Given the description of an element on the screen output the (x, y) to click on. 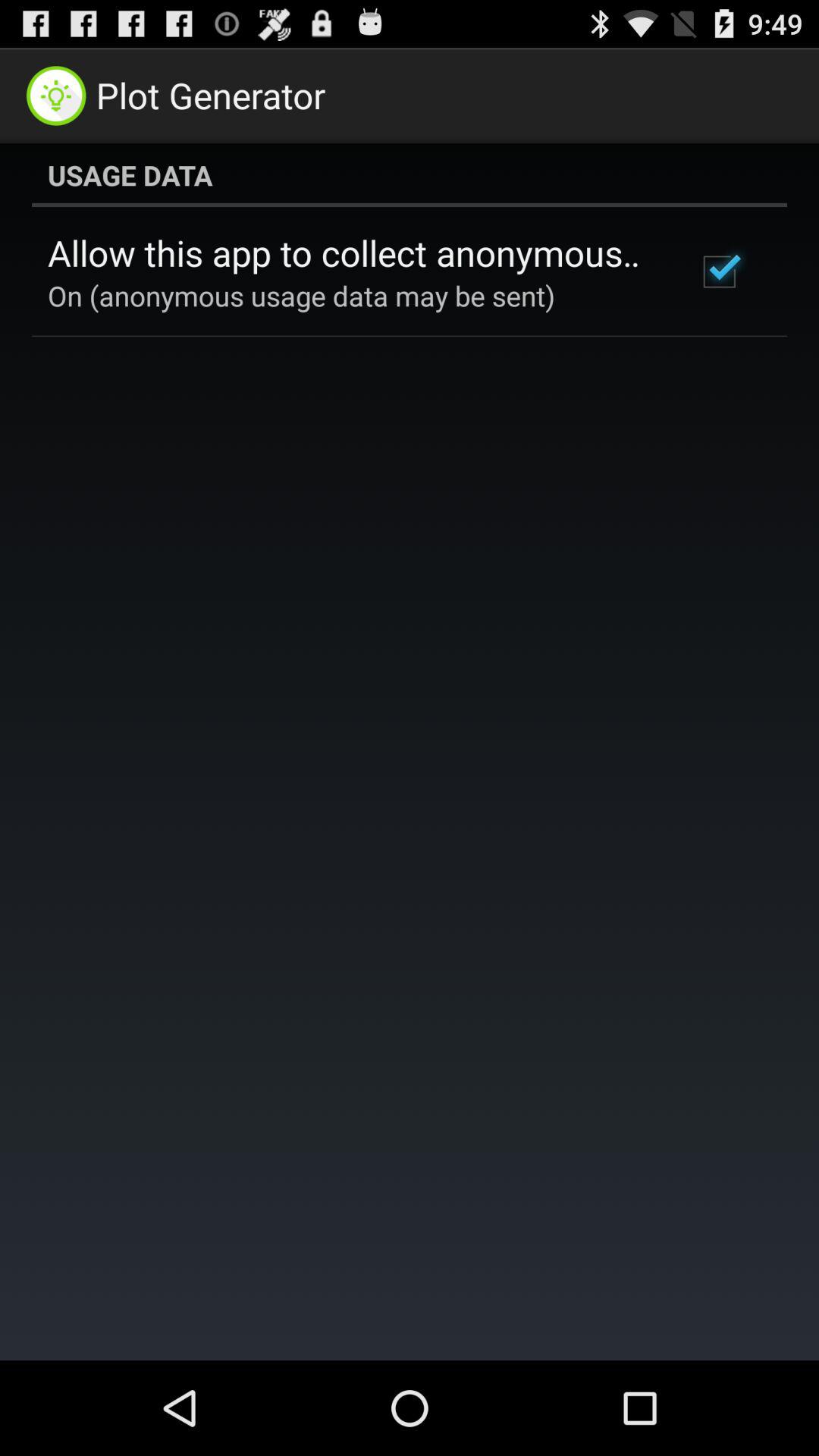
turn off the item next to the allow this app icon (719, 271)
